Given the description of an element on the screen output the (x, y) to click on. 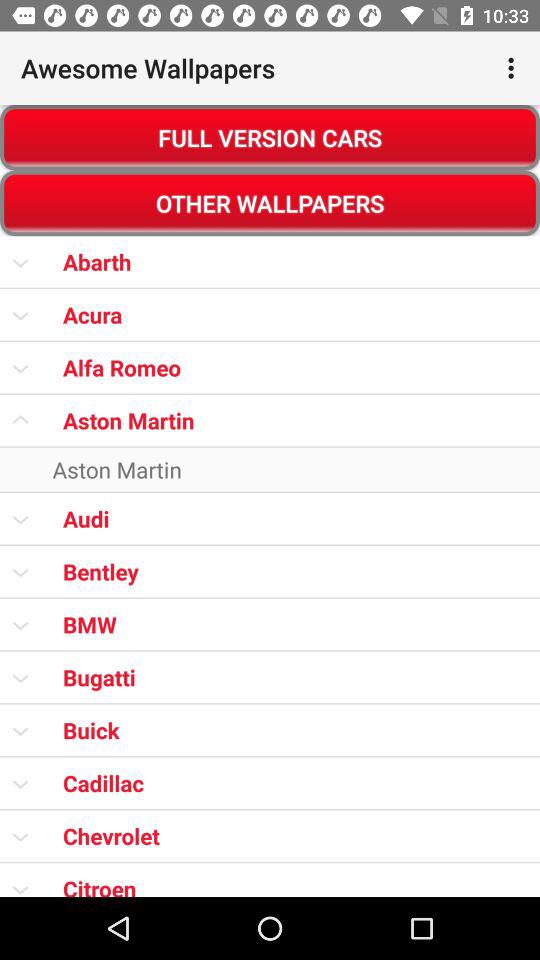
jump until other wallpapers (270, 203)
